Given the description of an element on the screen output the (x, y) to click on. 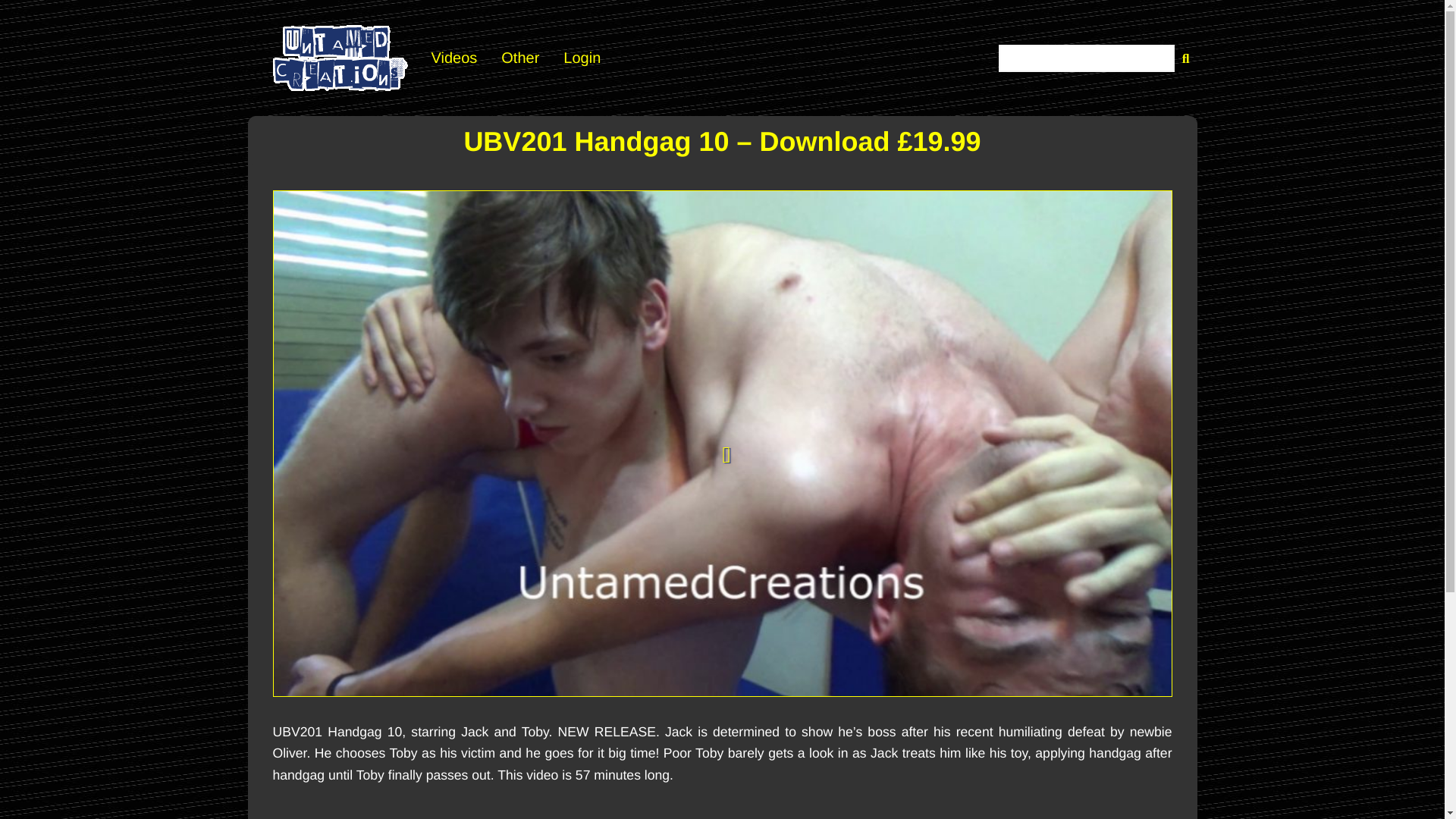
Other (520, 58)
Login (581, 58)
Videos (454, 58)
